Given the description of an element on the screen output the (x, y) to click on. 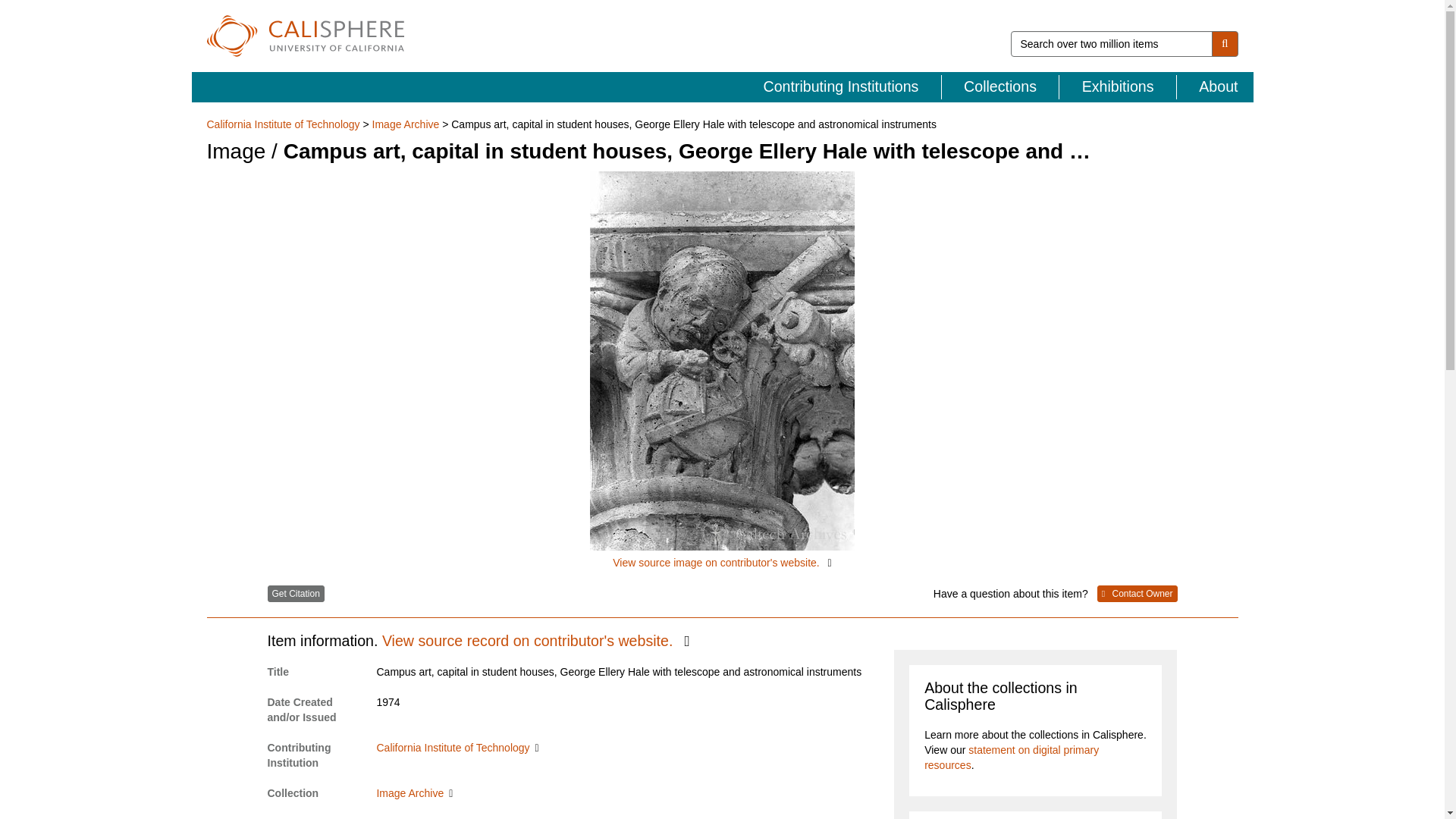
Get Citation (294, 593)
statement on digital primary resources (1011, 757)
Image Archive (405, 123)
Collections (1000, 86)
Image Archive (413, 793)
Contact Owner (1137, 593)
About (1214, 86)
Contributing Institutions (841, 86)
California Institute of Technology (284, 123)
Exhibitions (1117, 86)
California Institute of Technology (456, 747)
View source record on contributor's website. (535, 640)
View source image on contributor's website. (721, 370)
